Given the description of an element on the screen output the (x, y) to click on. 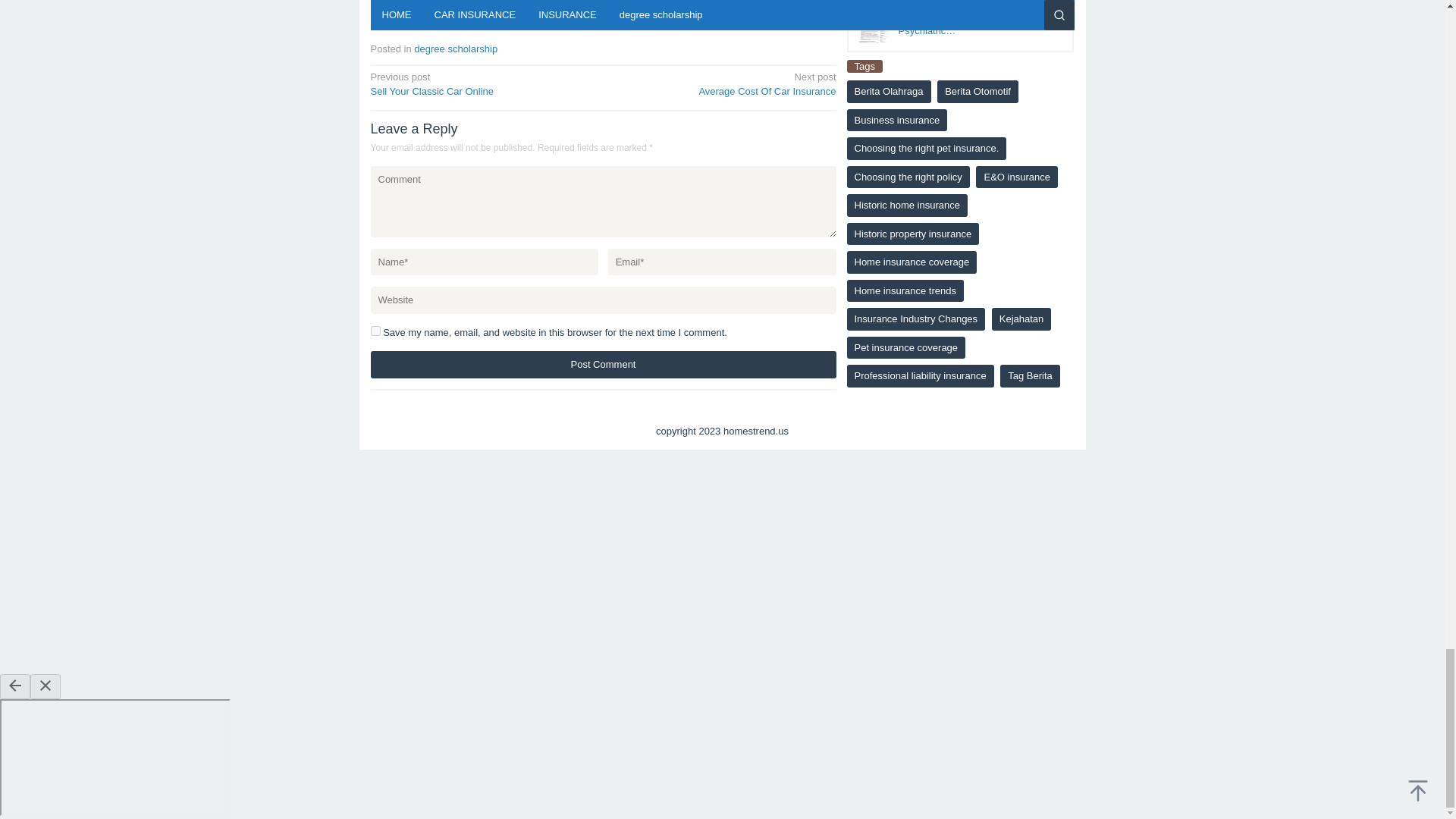
degree scholarship (481, 83)
Online Criminal Justice Degree California (455, 48)
Post Comment (657, 7)
Online Clinical Counseling Master degree (602, 364)
How Many Years For A Master's Degree (528, 14)
Post Comment (775, 7)
Top Online Counseling Degrees (602, 364)
yes (418, 7)
